Given the description of an element on the screen output the (x, y) to click on. 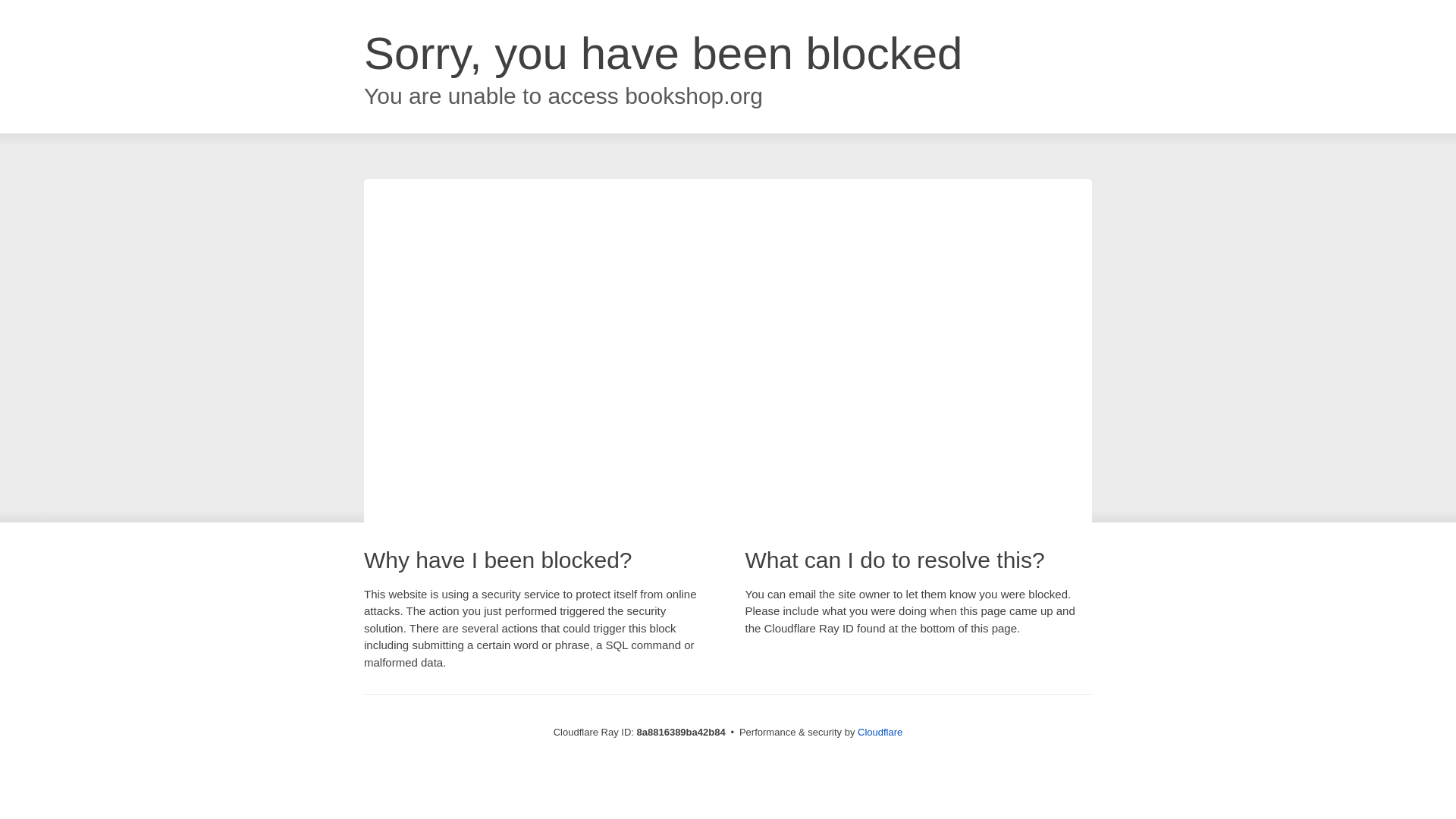
Cloudflare (879, 731)
